Given the description of an element on the screen output the (x, y) to click on. 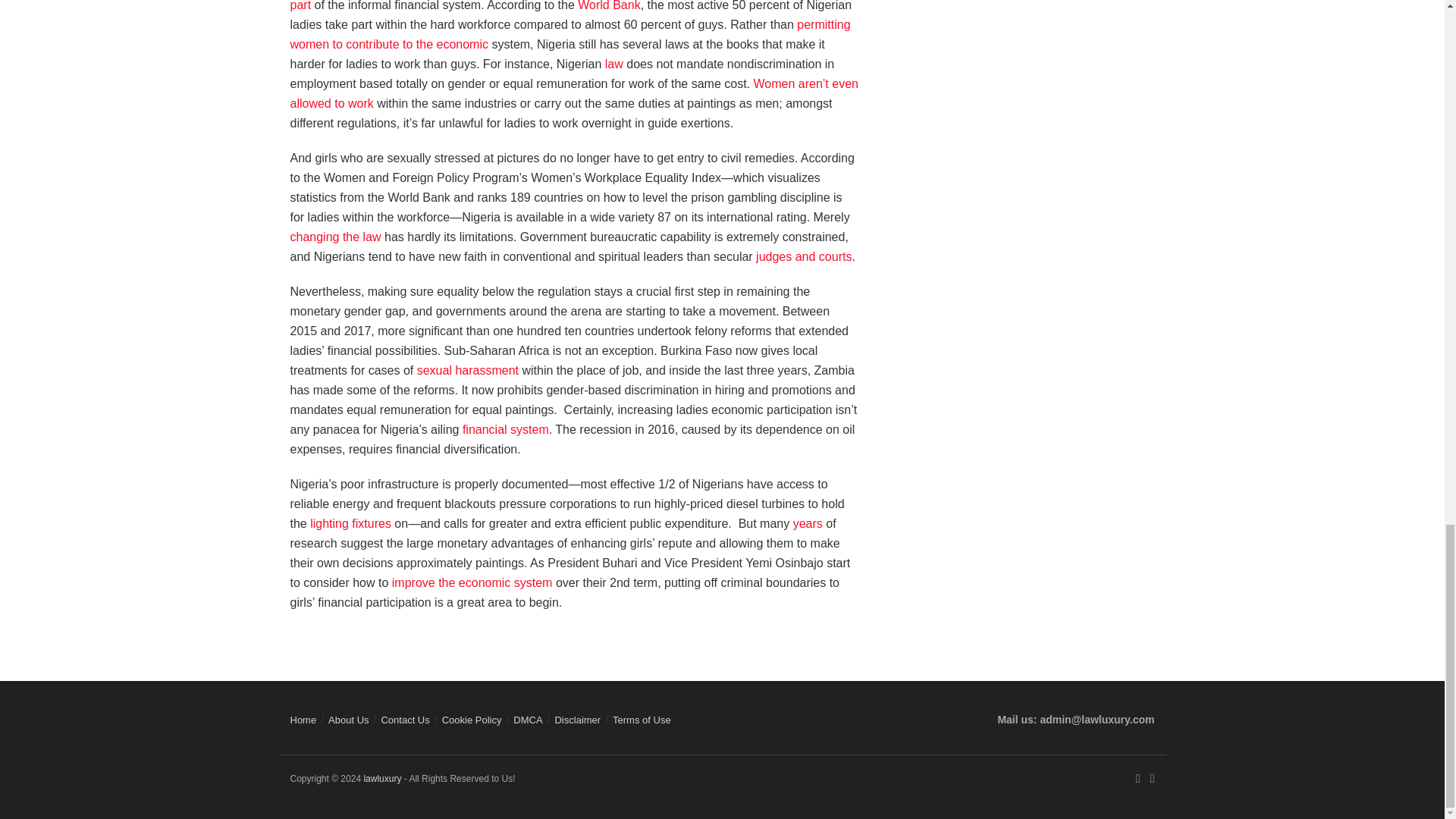
lawluxury (381, 778)
